Given the description of an element on the screen output the (x, y) to click on. 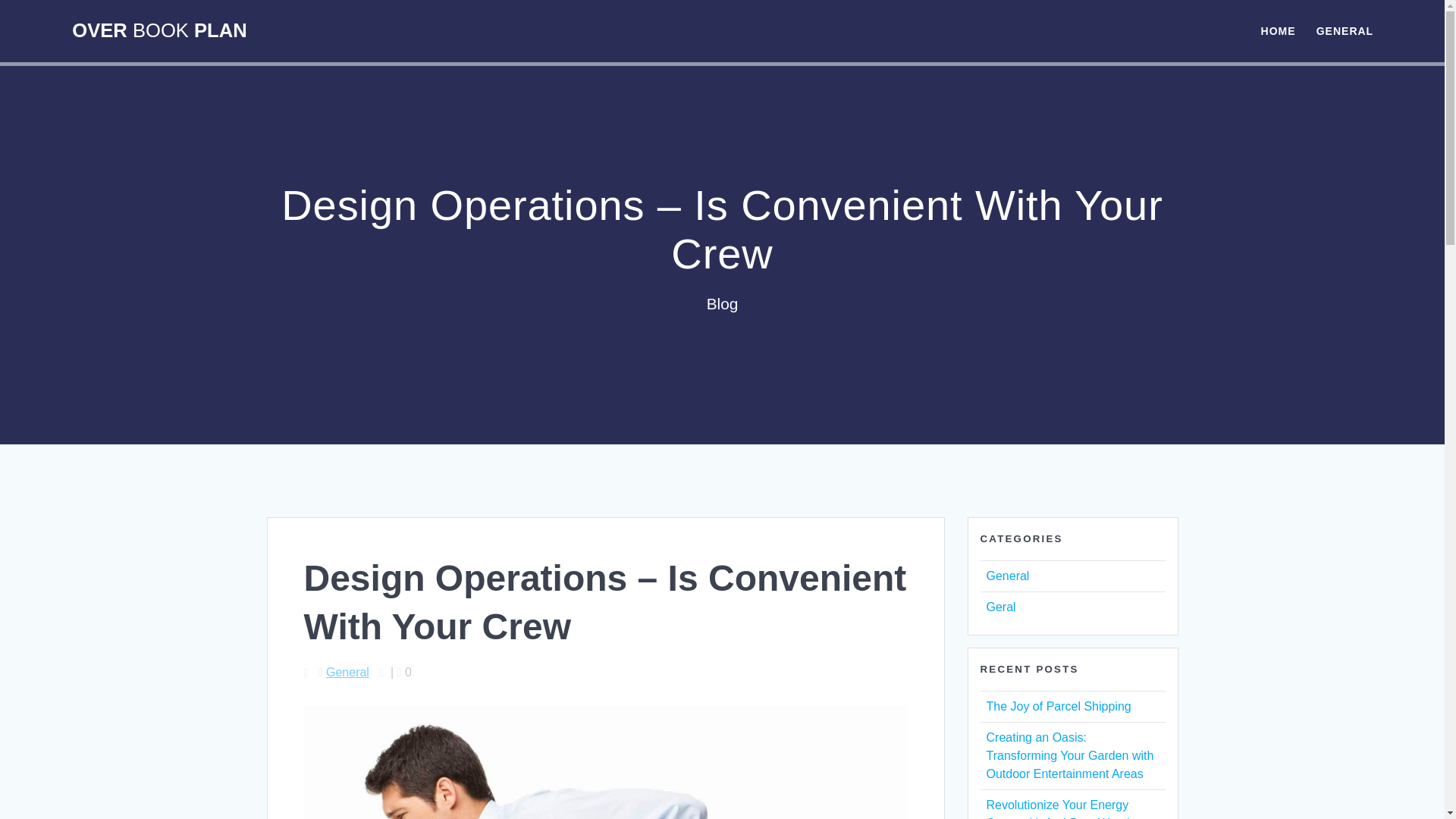
General (347, 671)
The Joy of Parcel Shipping (1058, 706)
Geral (999, 606)
HOME (1277, 30)
Revolutionize Your Energy Costs with Anti-Dust Wood Pellets (1057, 808)
OVER BOOK PLAN (158, 30)
General (1007, 575)
GENERAL (1344, 30)
